Given the description of an element on the screen output the (x, y) to click on. 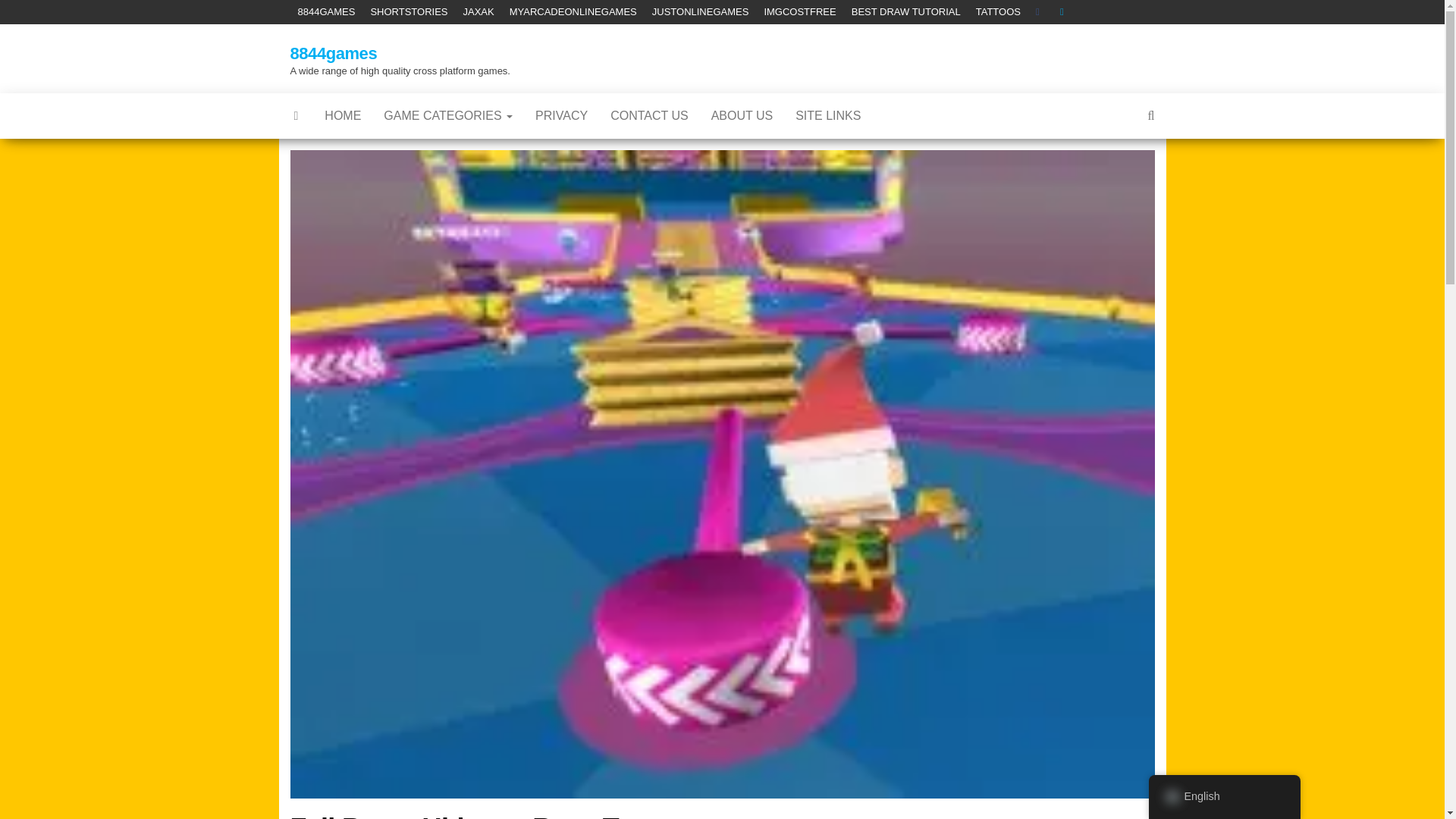
shortstories (408, 12)
HOME (342, 115)
ABOUT US (742, 115)
Twitter (1064, 12)
Game Categories (448, 115)
myarcadeonlinegames (573, 12)
CONTACT US (649, 115)
8844GAMES (325, 12)
FACEBOOK (1039, 12)
best draw tutorial (906, 12)
